Given the description of an element on the screen output the (x, y) to click on. 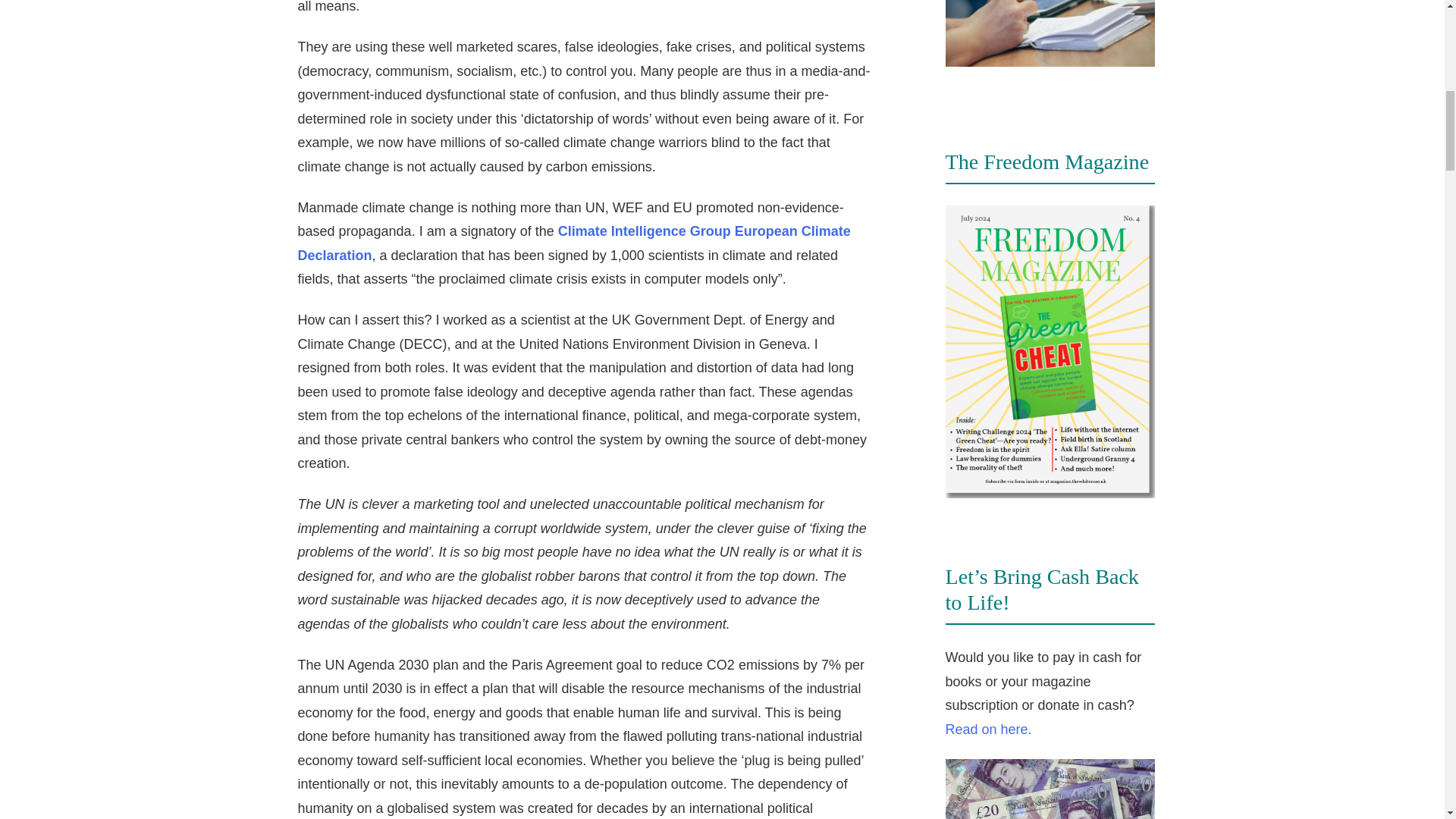
Climate Intelligence Group European Climate Declaration (573, 242)
